Given the description of an element on the screen output the (x, y) to click on. 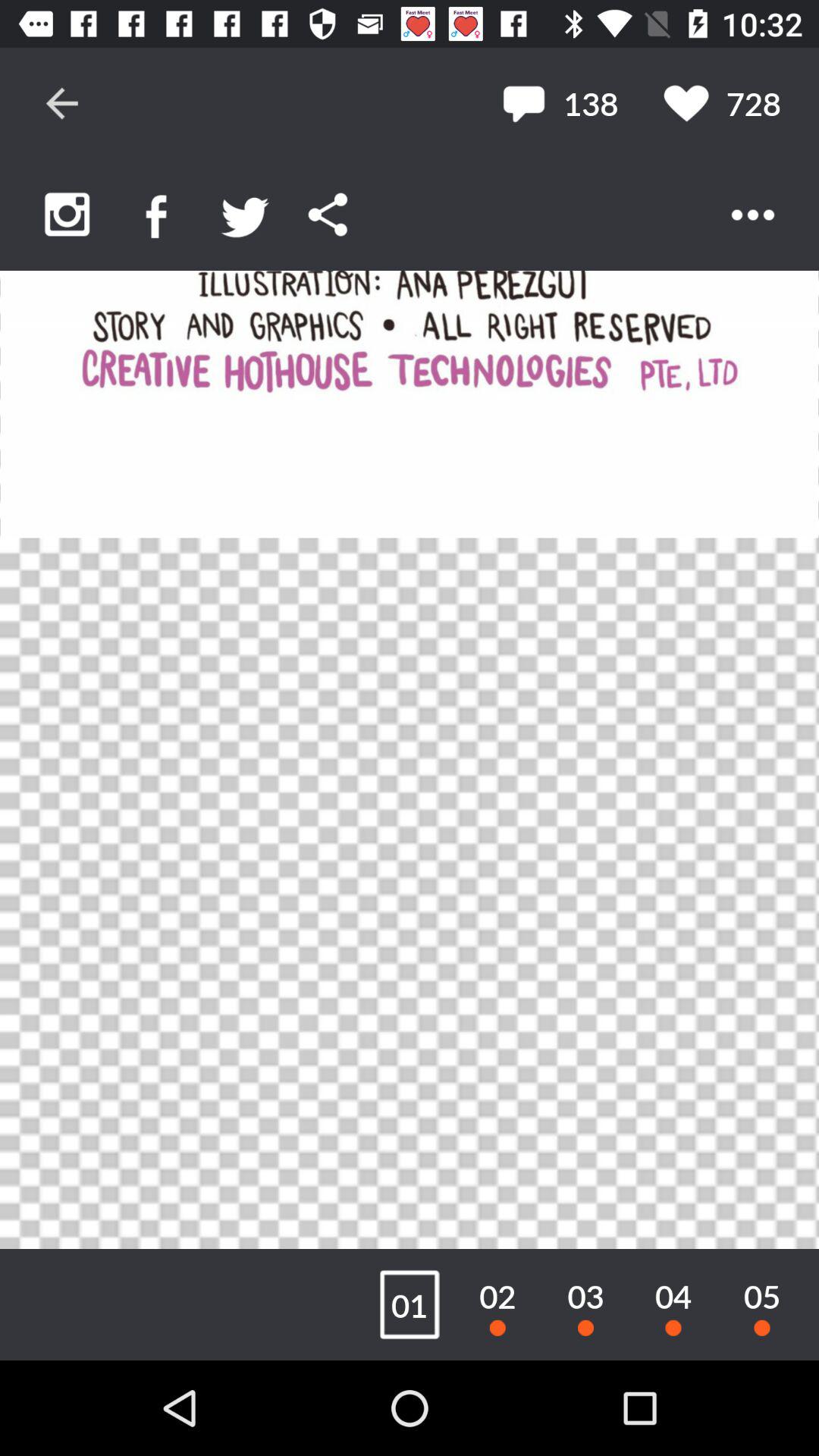
share to twitter (245, 214)
